Given the description of an element on the screen output the (x, y) to click on. 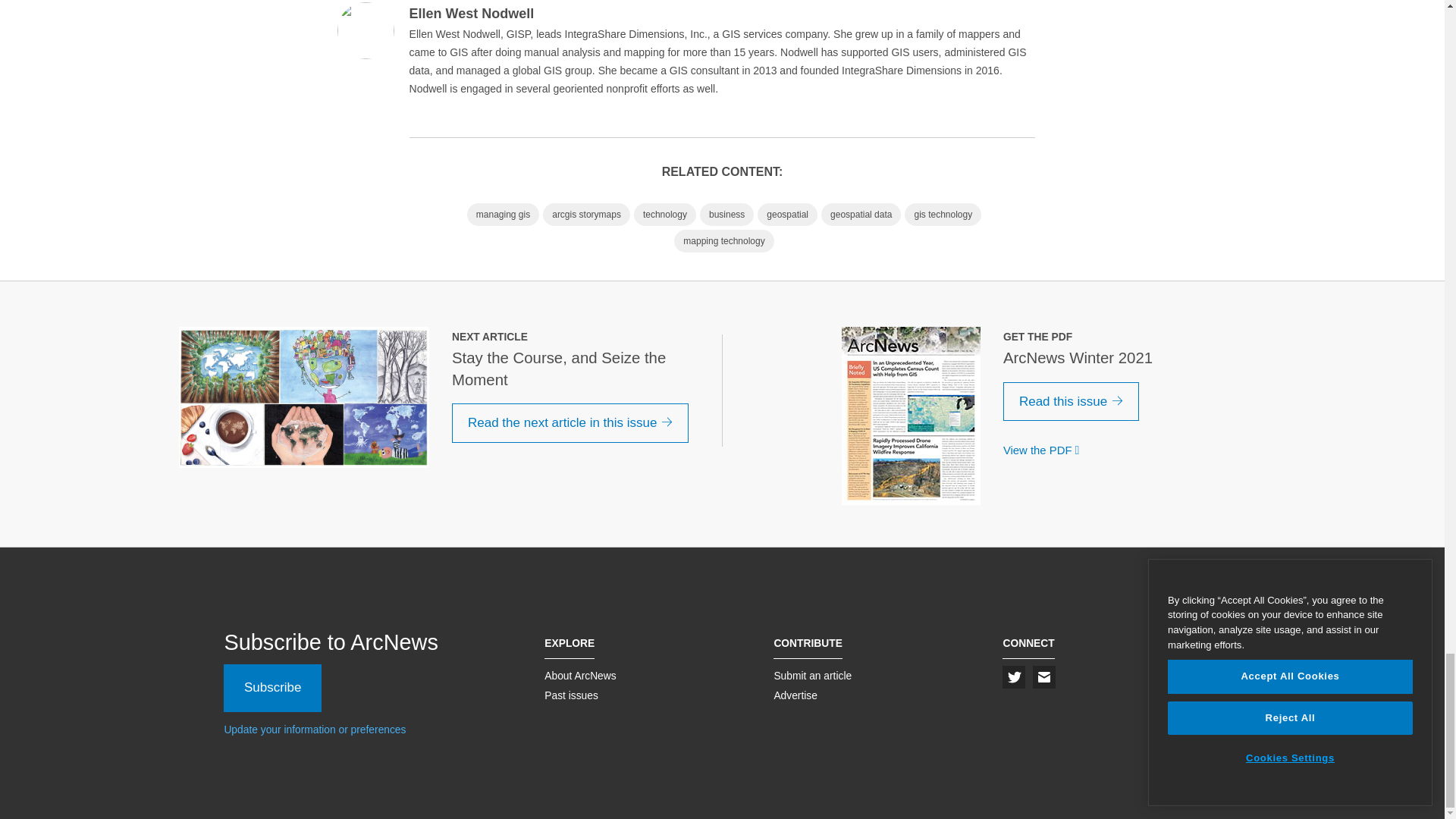
technology (664, 214)
Submit an article (812, 675)
mapping technology (723, 241)
managing gis (502, 214)
About ArcNews (579, 675)
geospatial (786, 214)
Past issues (571, 695)
View the PDF (1044, 450)
Update your information or preferences (315, 729)
Subscribe (272, 687)
business (727, 214)
arcgis storymaps (586, 214)
Read this issue (1070, 401)
gis technology (942, 214)
Read the next article in this issue (569, 423)
